Given the description of an element on the screen output the (x, y) to click on. 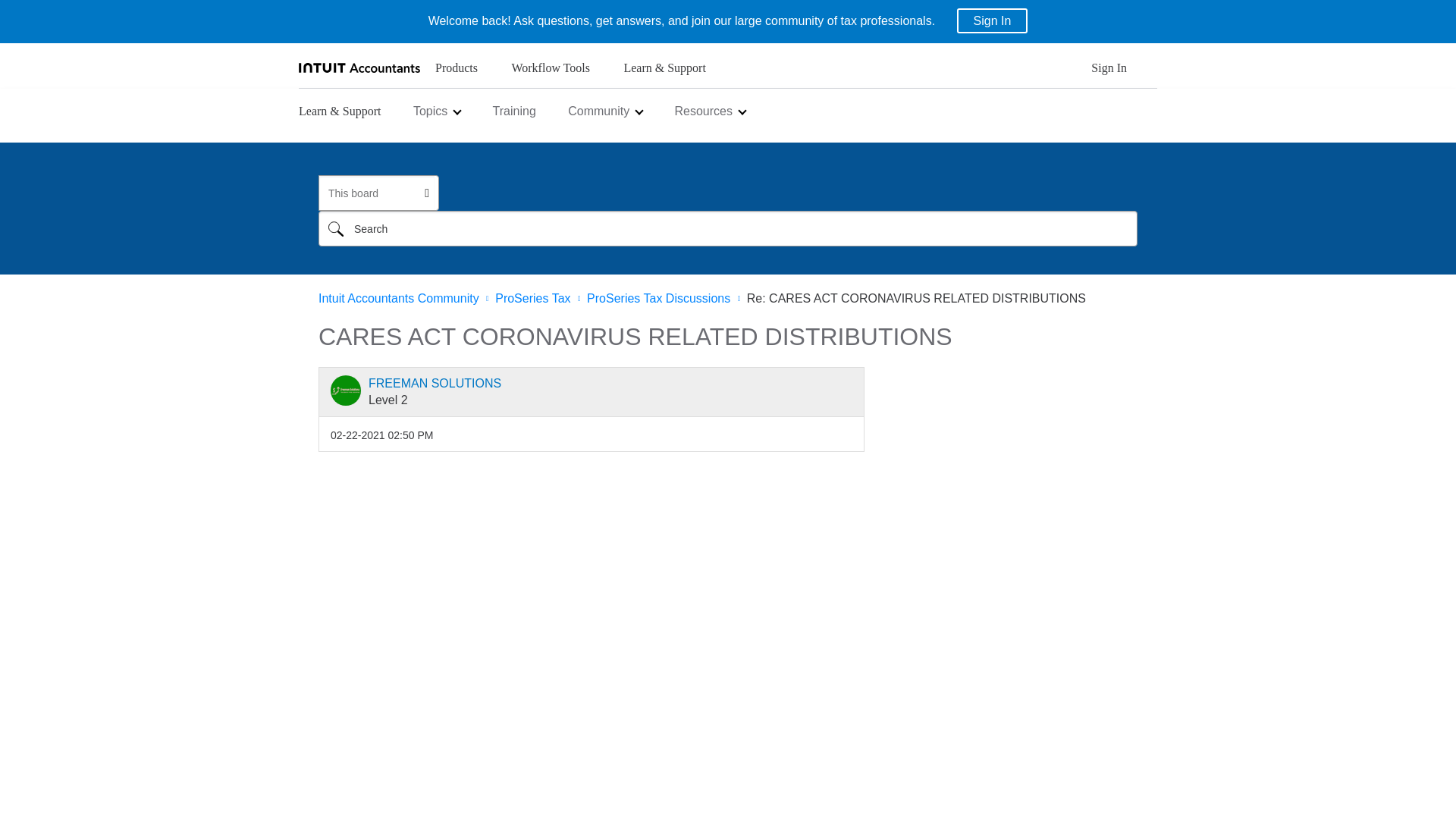
FREEMAN SOLUTIONS (345, 390)
Search (335, 228)
Posted on (381, 435)
Search Granularity (375, 192)
Sign In (1108, 72)
Sign In (991, 20)
Search (727, 228)
Search (335, 228)
